Given the description of an element on the screen output the (x, y) to click on. 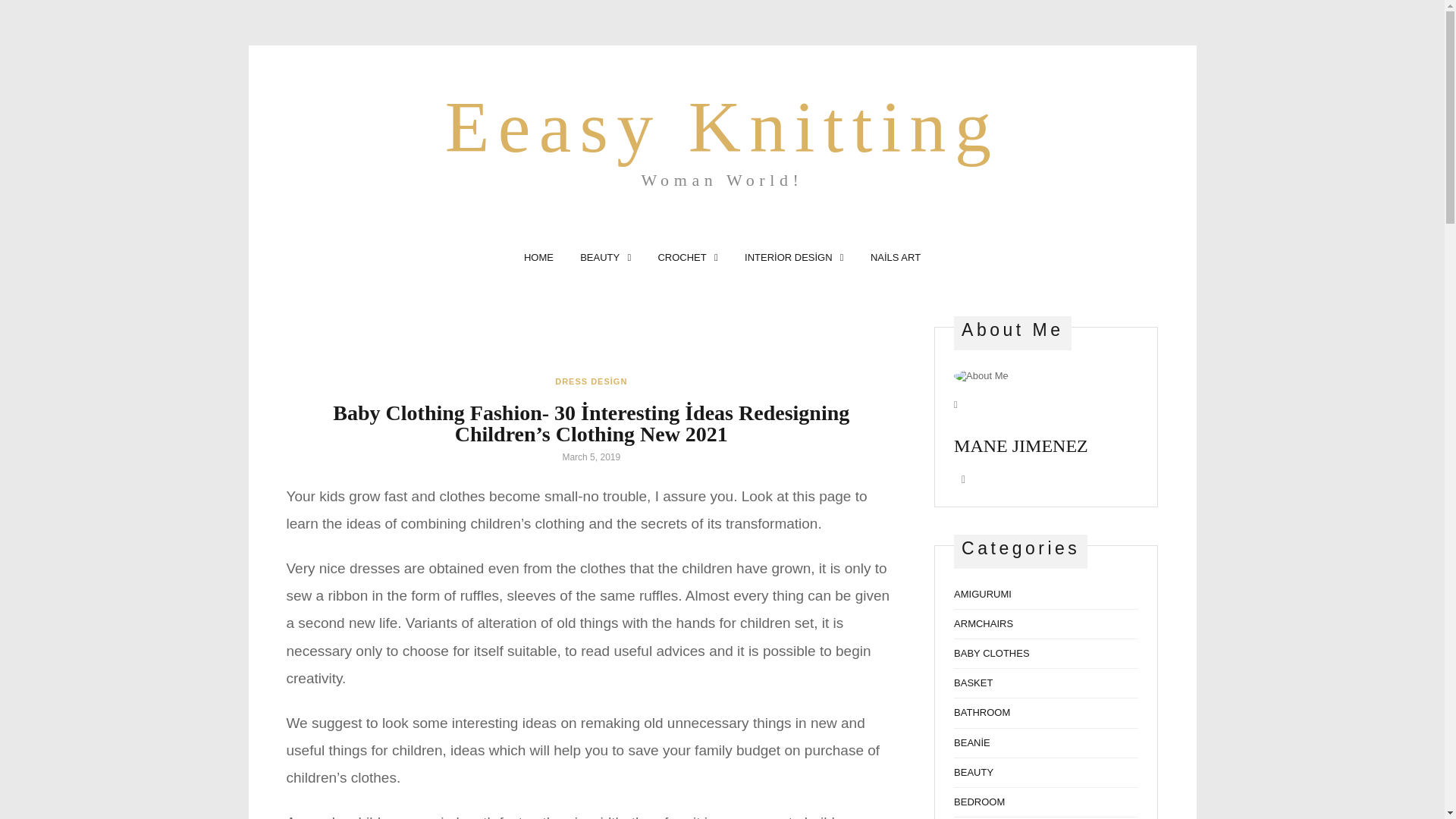
HOME (538, 256)
CROCHET (721, 136)
BEAUTY (687, 256)
